Given the description of an element on the screen output the (x, y) to click on. 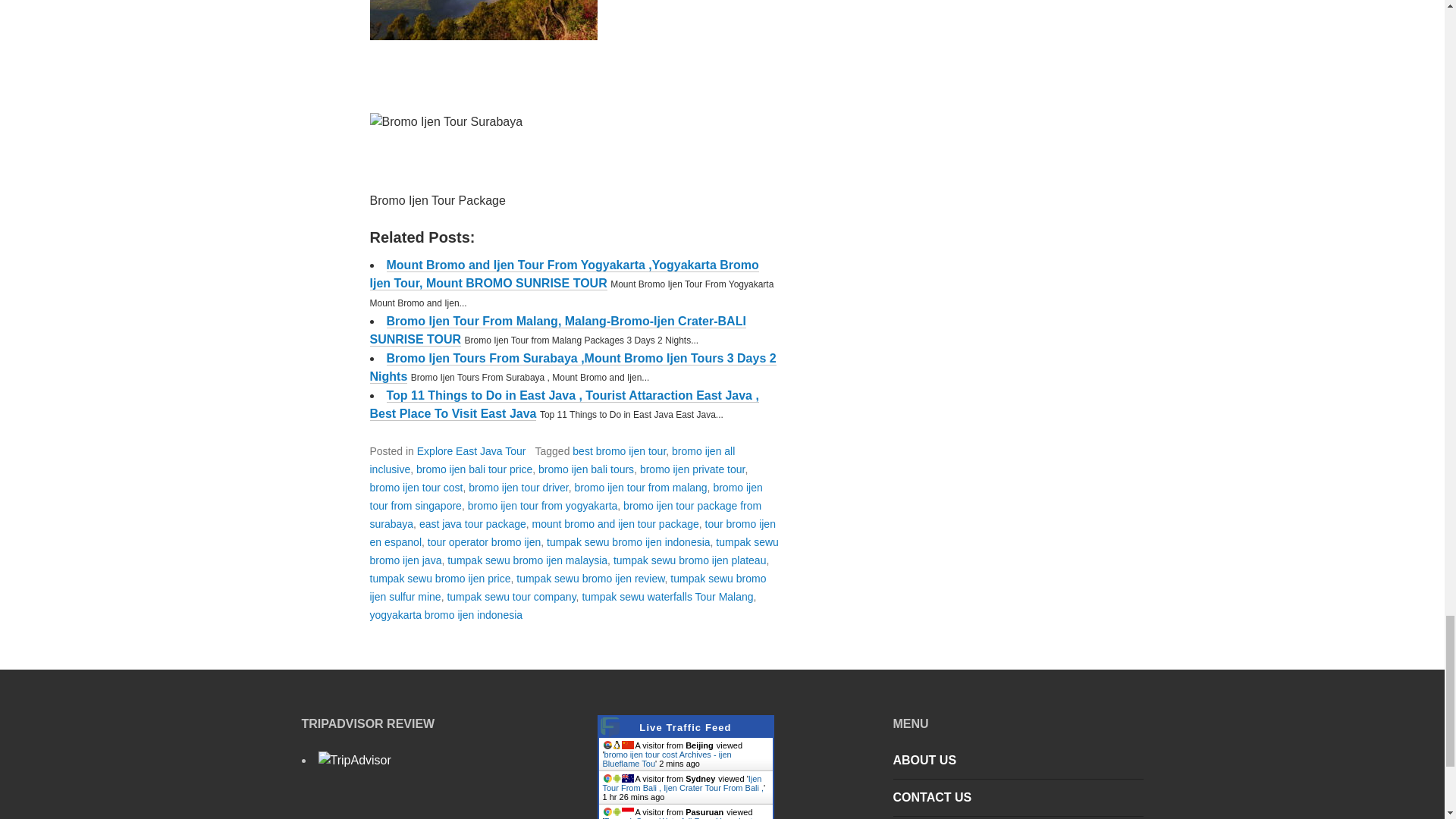
bromo ijen bali tour price (474, 469)
tumpak sewu bromo ijen java (573, 551)
tumpak sewu waterfalls Tour Malang (666, 596)
bromo ijen tour from singapore (565, 496)
bromo ijen bali tours (585, 469)
bromo ijen all inclusive (552, 460)
tumpak sewu bromo ijen indonesia (628, 541)
tumpak sewu tour company (510, 596)
east java tour package (472, 523)
tumpak sewu bromo ijen sulfur mine (568, 587)
bromo ijen tour from malang (641, 487)
bromo ijen tour cost (416, 487)
yogyakarta bromo ijen indonesia (445, 614)
Explore East Java Tour (470, 451)
bromo ijen private tour (692, 469)
